Given the description of an element on the screen output the (x, y) to click on. 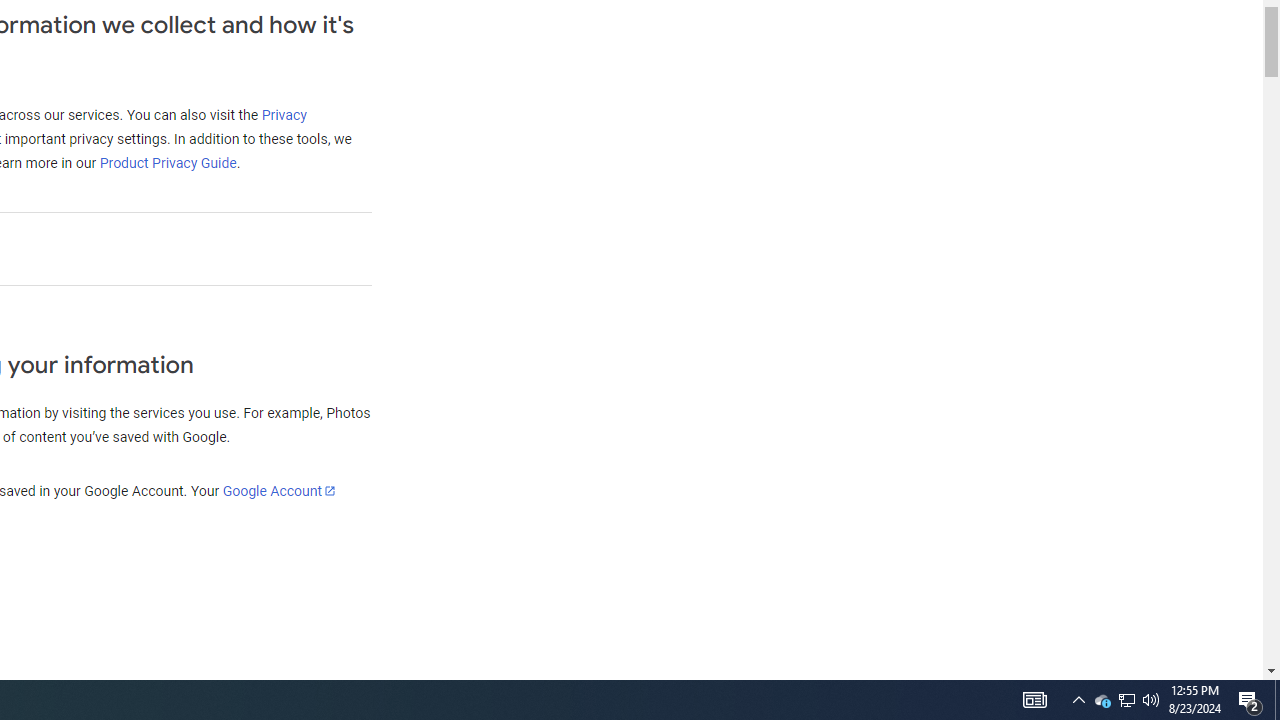
Product Privacy Guide (167, 163)
Google Account (278, 490)
